Given the description of an element on the screen output the (x, y) to click on. 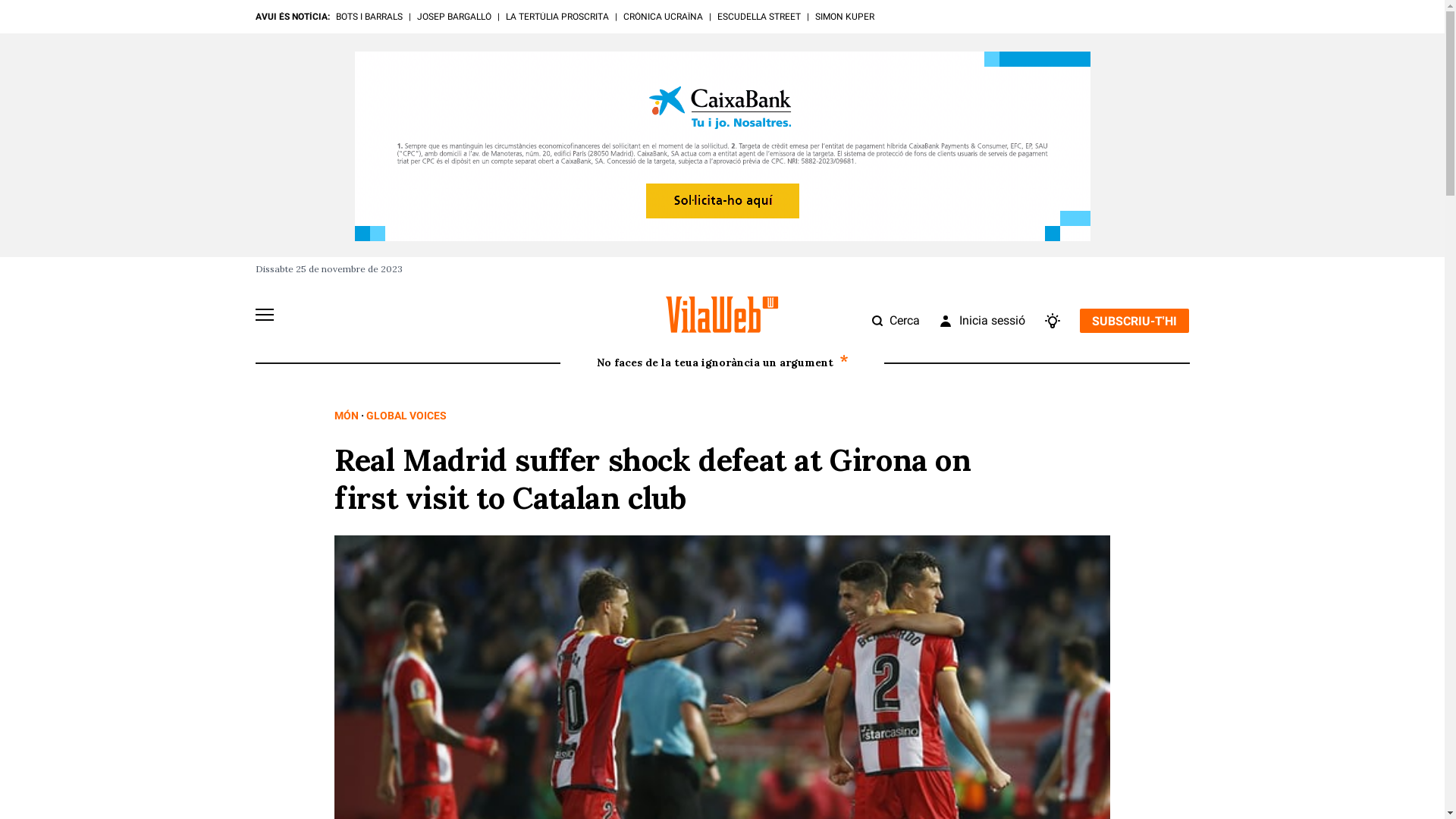
3rd party ad content Element type: hover (722, 146)
ESCUDELLA STREET Element type: text (758, 16)
BOTS I BARRALS Element type: text (368, 16)
SIMON KUPER Element type: text (843, 16)
Cerca Element type: text (895, 320)
GLOBAL VOICES Element type: text (406, 415)
SUBSCRIU-T'HI Element type: text (1134, 320)
